Given the description of an element on the screen output the (x, y) to click on. 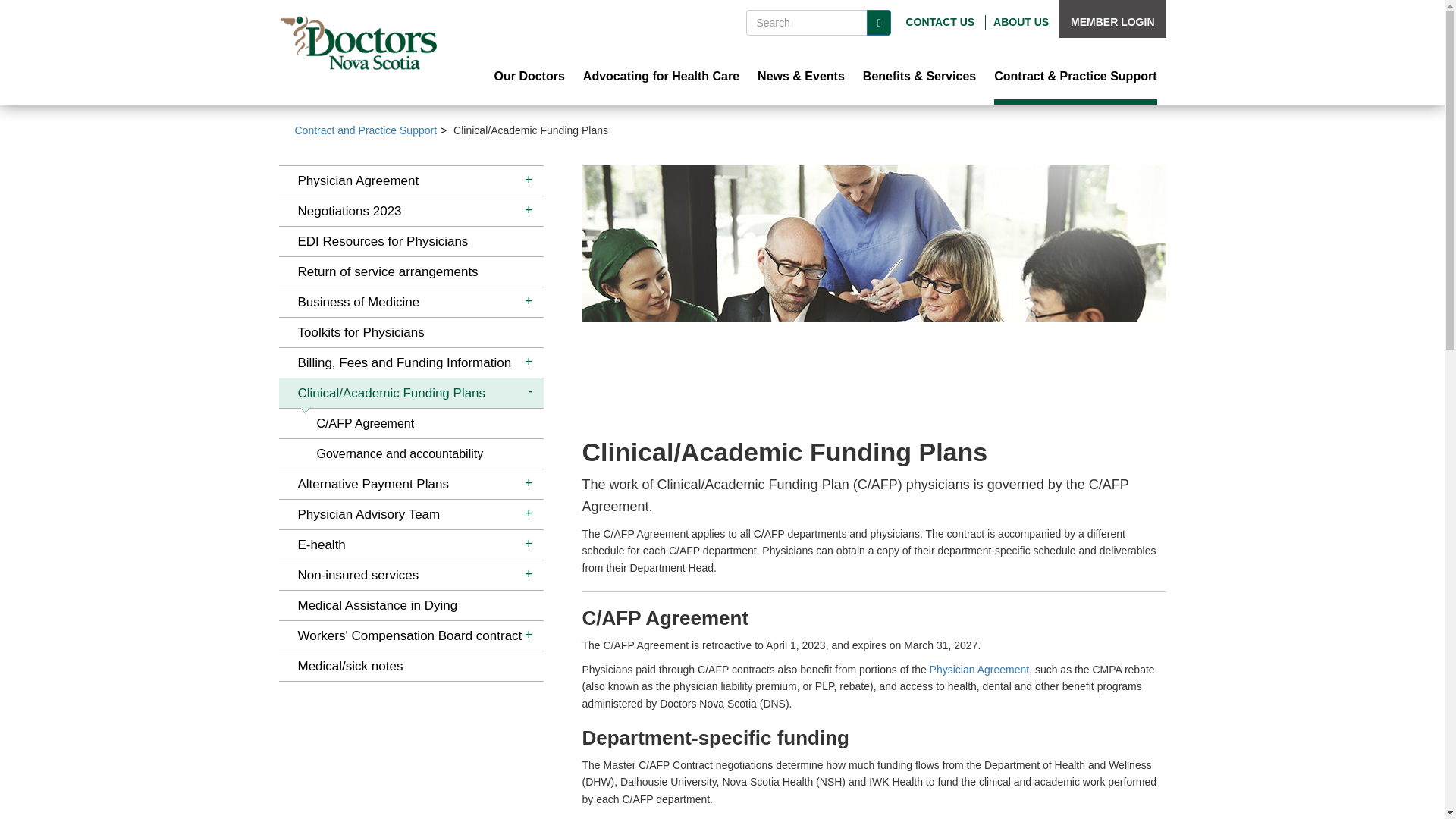
ABOUT US (1020, 21)
MEMBER LOGIN (1112, 21)
CONTACT US (939, 21)
Our Doctors Description (529, 77)
Home (358, 43)
Search (877, 22)
